Given the description of an element on the screen output the (x, y) to click on. 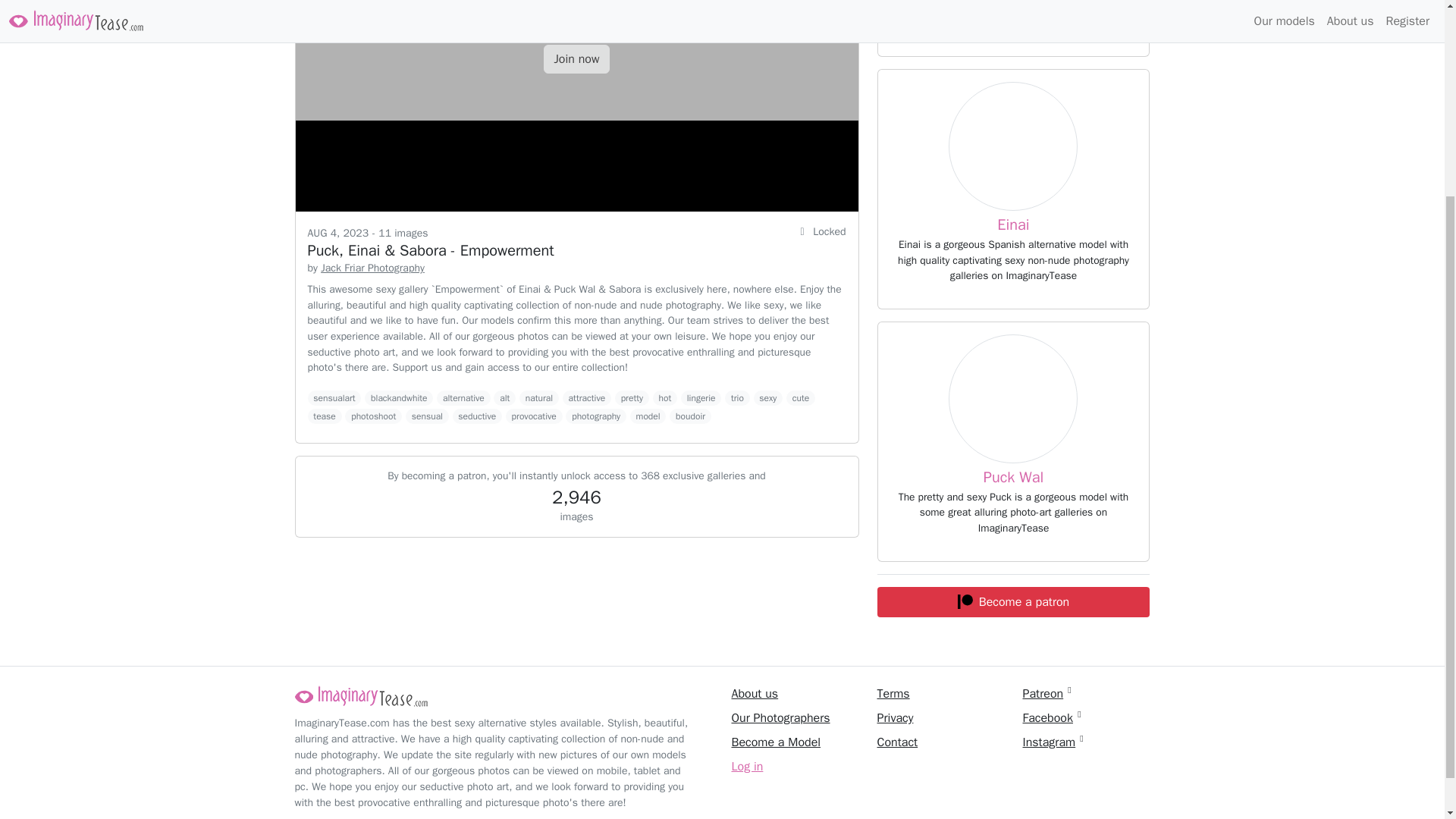
ImaginaryTease home page (361, 695)
Become a patron (1013, 602)
Jack Friar Photography (372, 267)
Einai (1013, 224)
Puck Wal's sexy photo's on ImaginaryTease (1013, 398)
Become a Model (775, 742)
ImaginaryTease Terms (892, 693)
Privacy (894, 717)
Instagram (1048, 742)
